Given the description of an element on the screen output the (x, y) to click on. 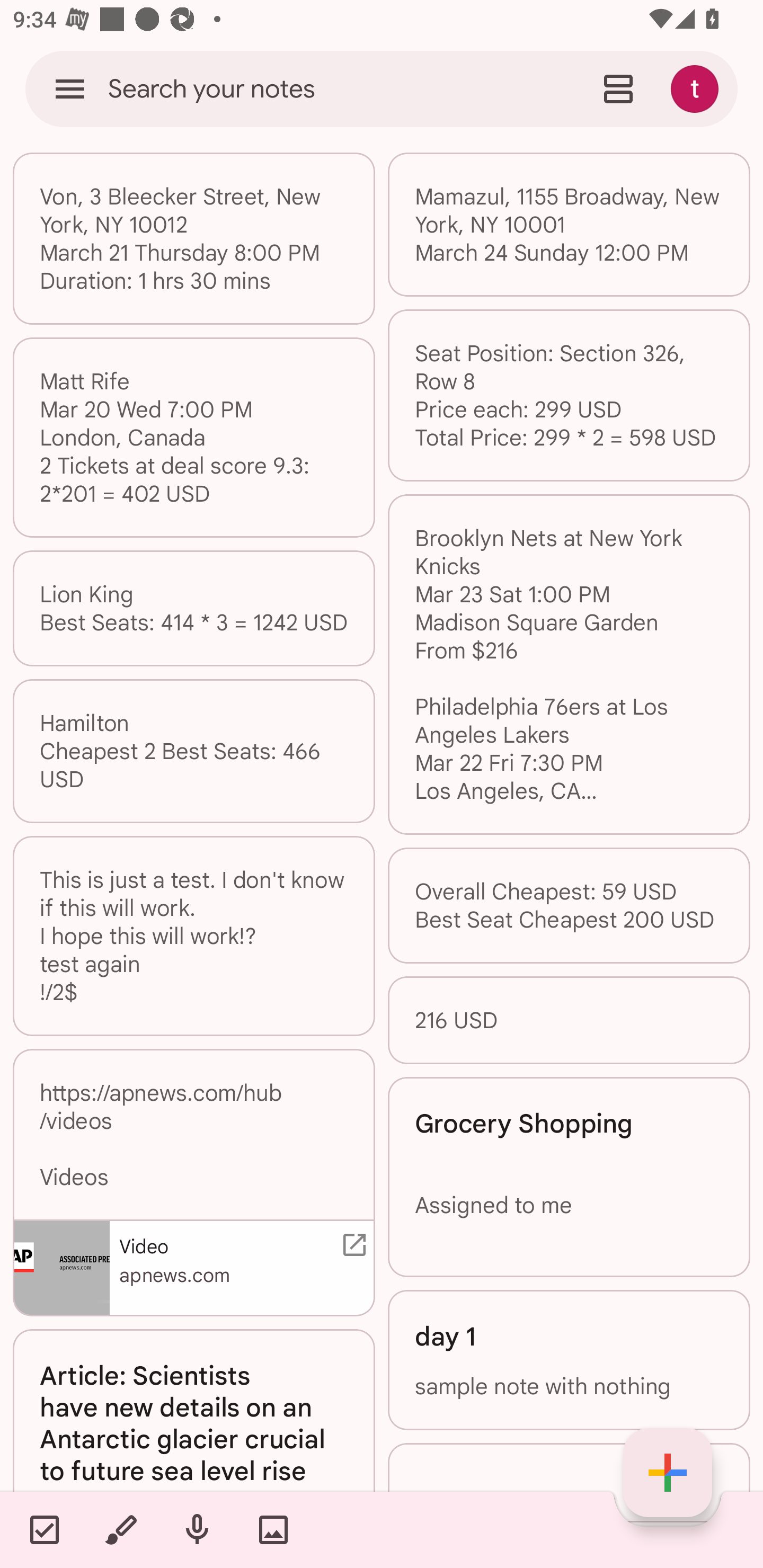
Open navigation drawer (70, 88)
Single-column view (617, 88)
Account and settings. (696, 88)
216 USD.  216 USD (568, 1020)
Link preview popout (350, 1244)
New text note (667, 1472)
New list (44, 1529)
New drawing note (120, 1529)
New audio note (196, 1529)
New photo note (273, 1529)
